Given the description of an element on the screen output the (x, y) to click on. 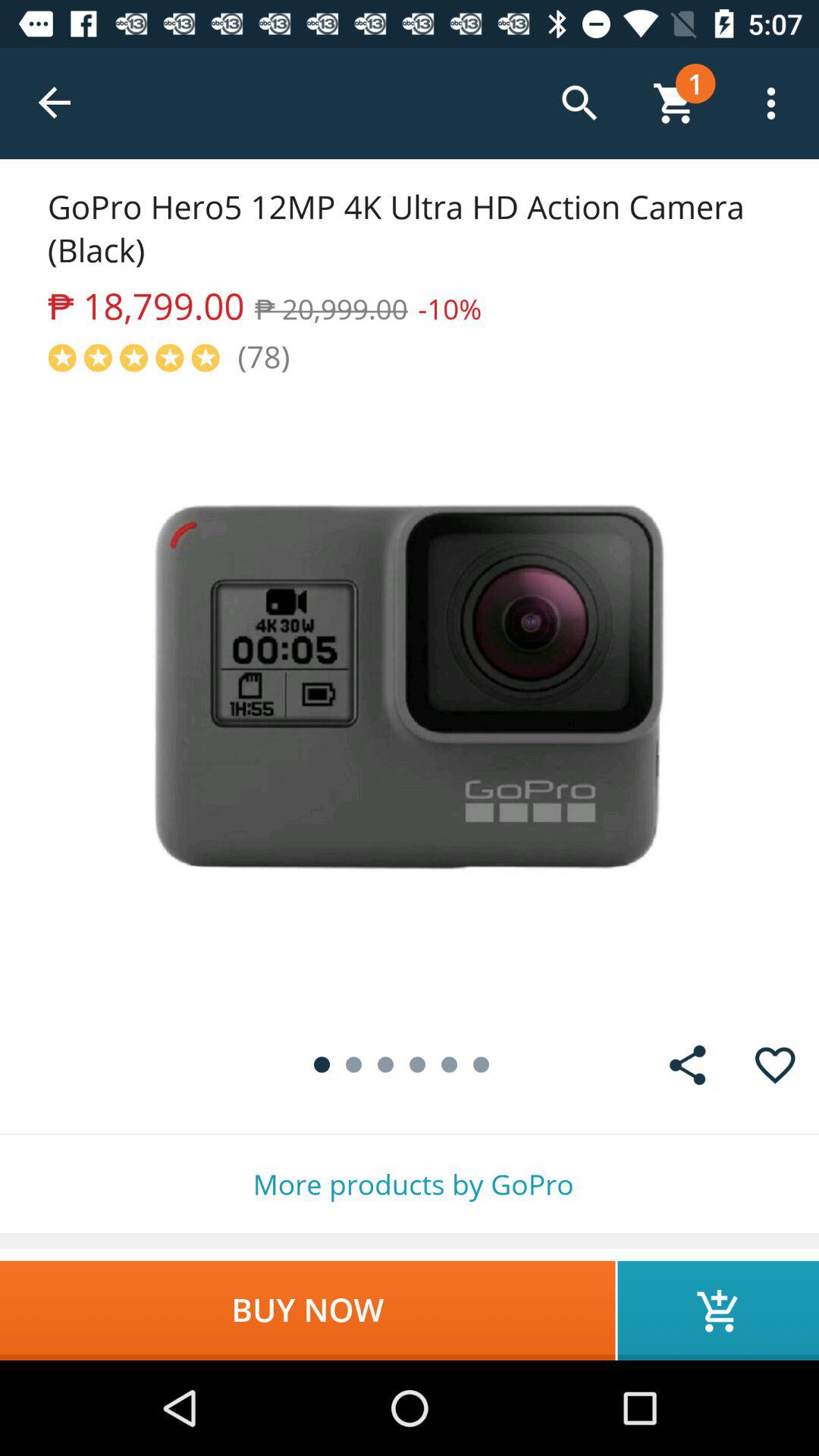
camara (409, 698)
